Given the description of an element on the screen output the (x, y) to click on. 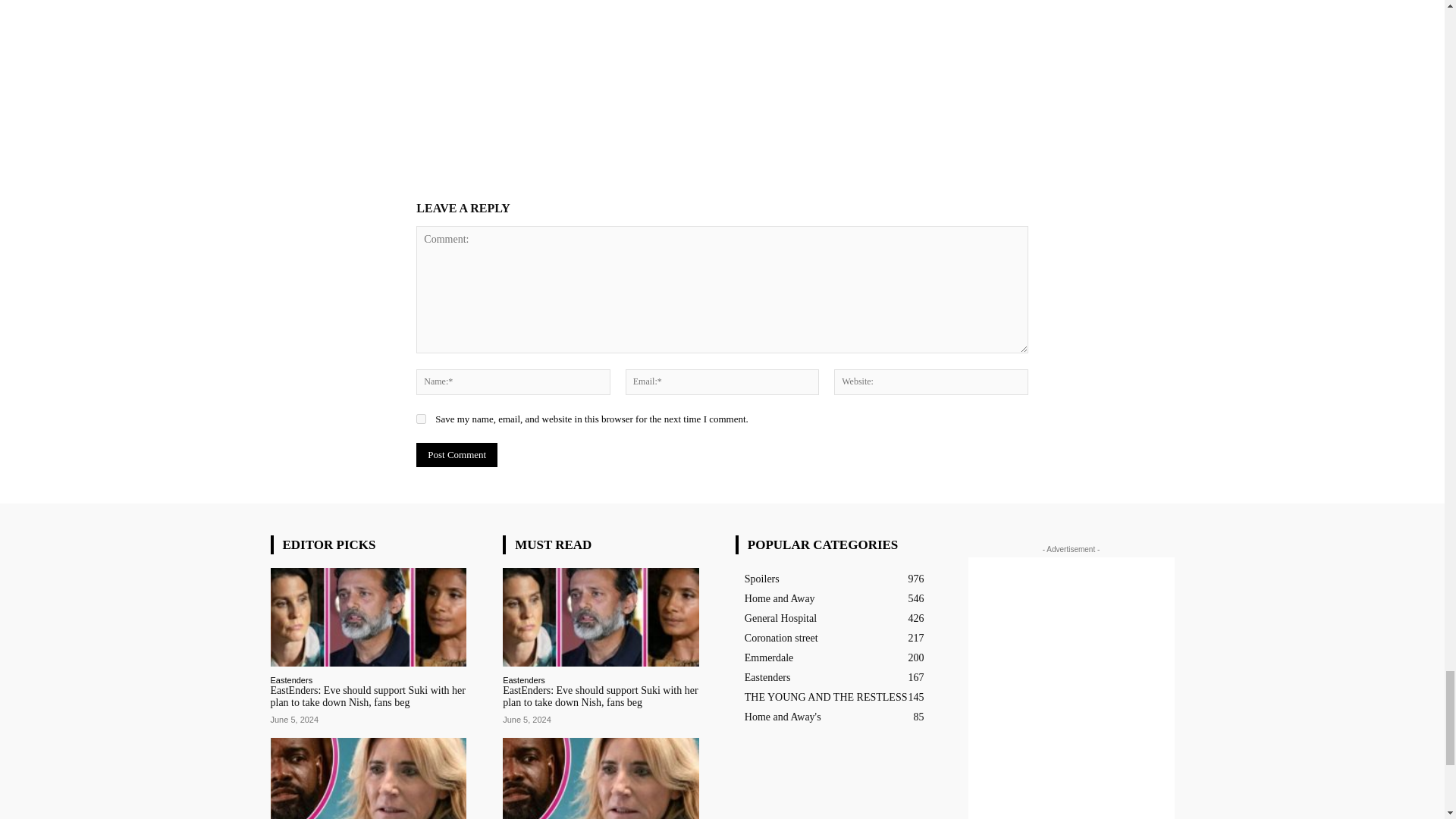
Post Comment (456, 454)
yes (421, 419)
